Given the description of an element on the screen output the (x, y) to click on. 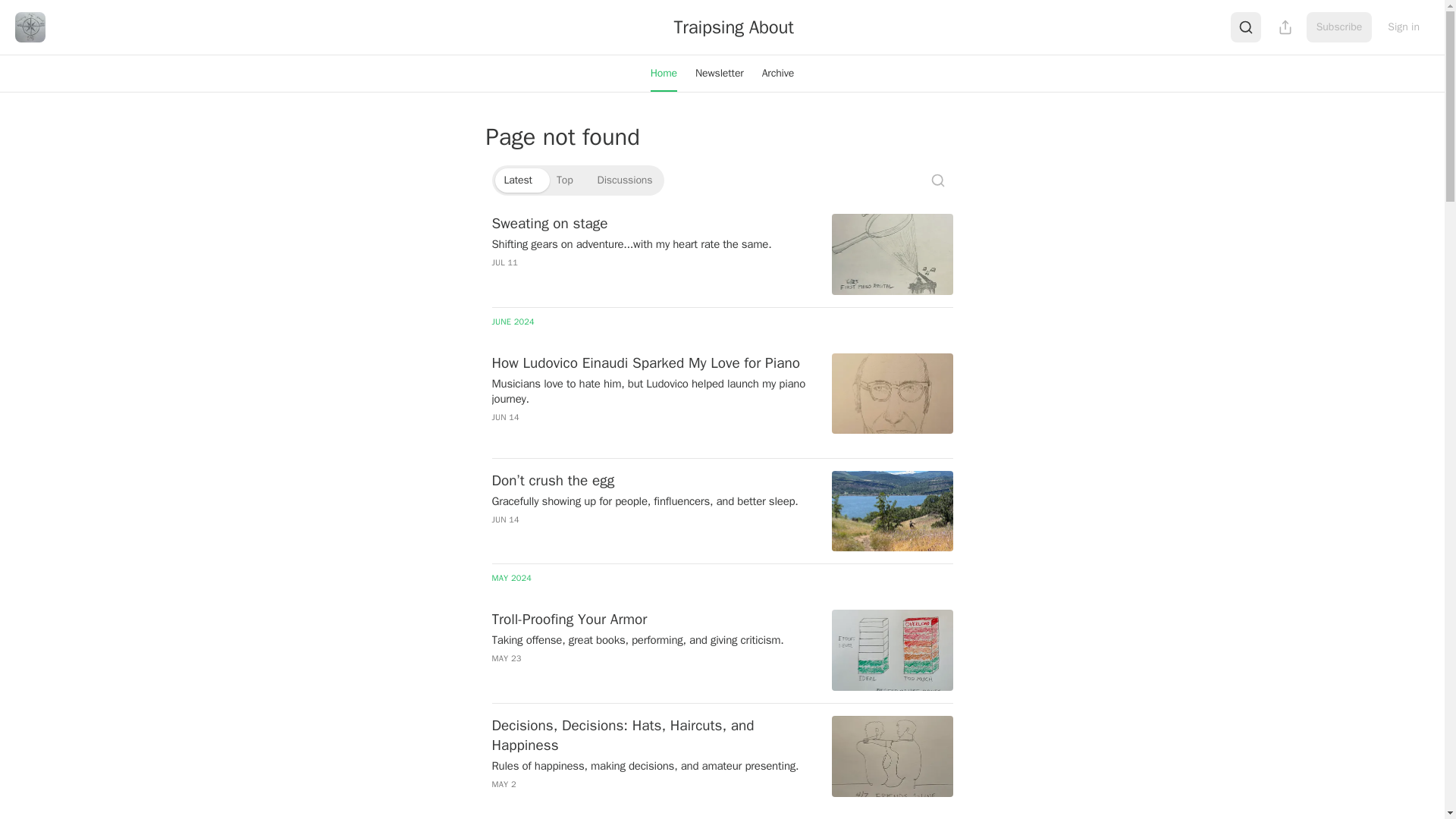
Home (663, 73)
Archive (777, 73)
Subscribe (1339, 27)
Top (564, 180)
Newsletter (718, 73)
Latest (517, 180)
Traipsing About (732, 26)
Discussions (625, 180)
Sweating on stage (652, 223)
Shifting gears on adventure...with my heart rate the same. (652, 243)
How Ludovico Einaudi Sparked My Love for Piano (652, 362)
Sign in (1403, 27)
